Given the description of an element on the screen output the (x, y) to click on. 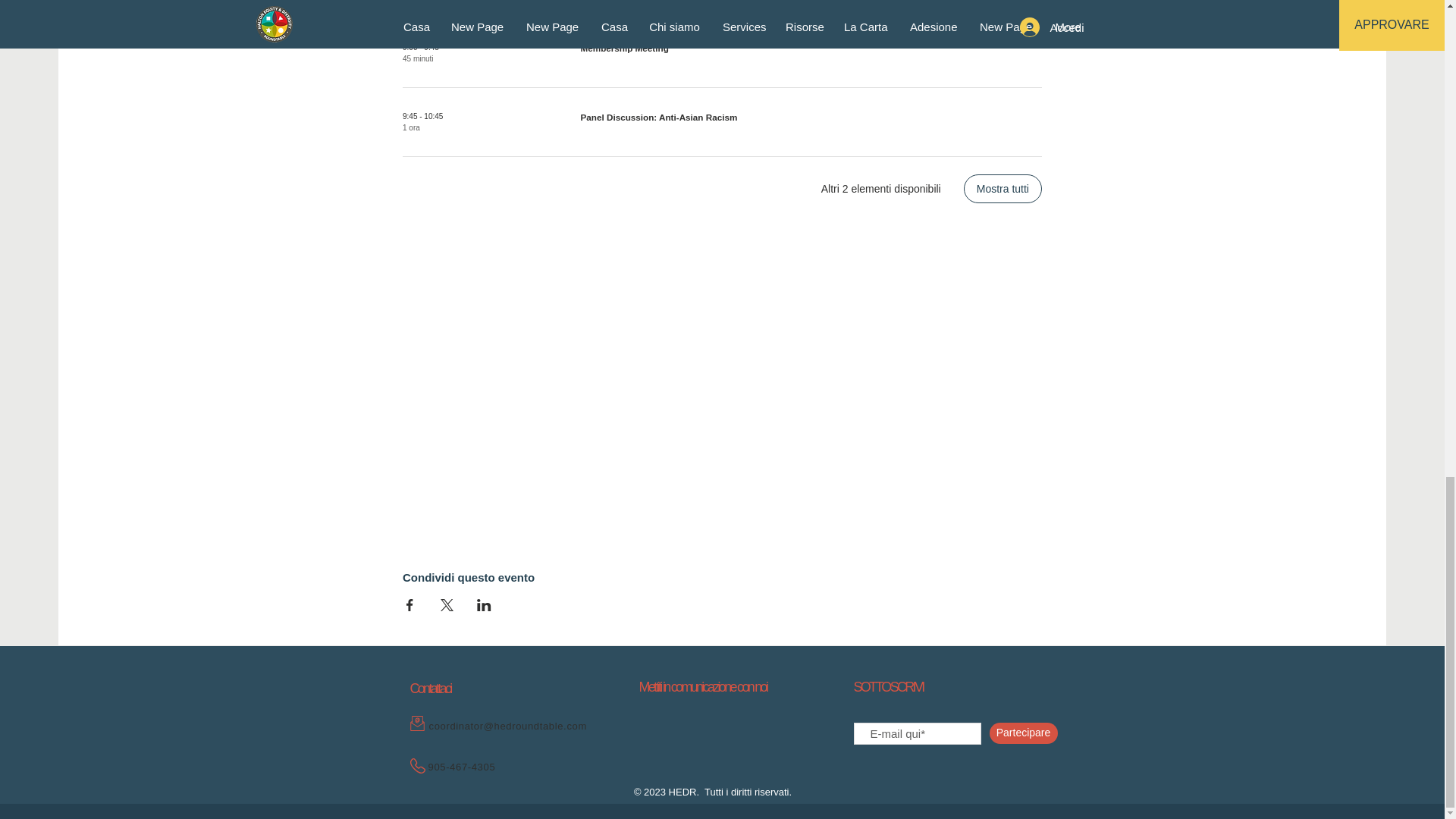
Mostra tutti (1002, 188)
